Given the description of an element on the screen output the (x, y) to click on. 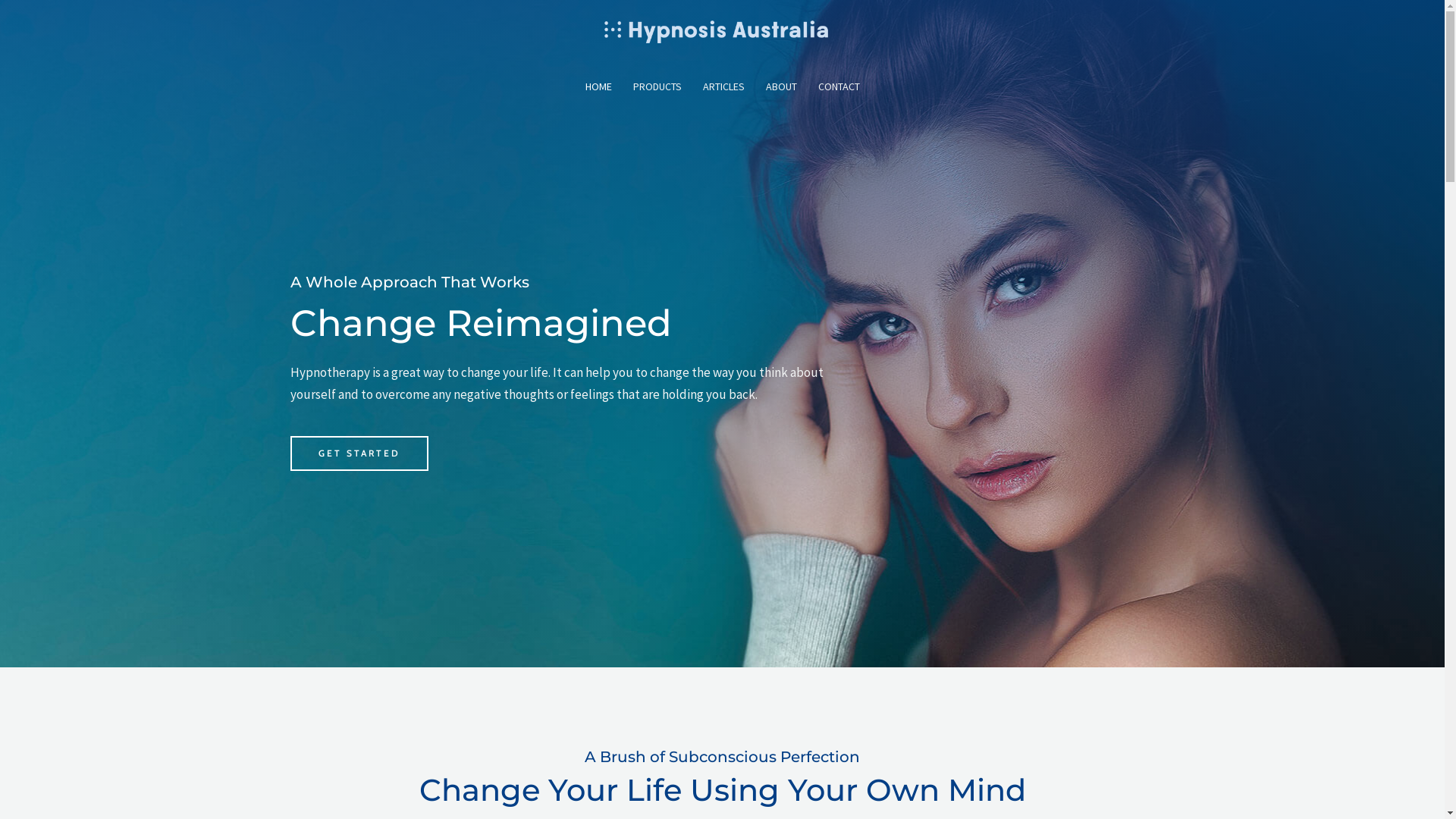
ARTICLES Element type: text (722, 86)
CONTACT Element type: text (837, 86)
HOME Element type: text (598, 86)
GET STARTED Element type: text (358, 453)
PRODUCTS Element type: text (656, 86)
ABOUT Element type: text (781, 86)
